Given the description of an element on the screen output the (x, y) to click on. 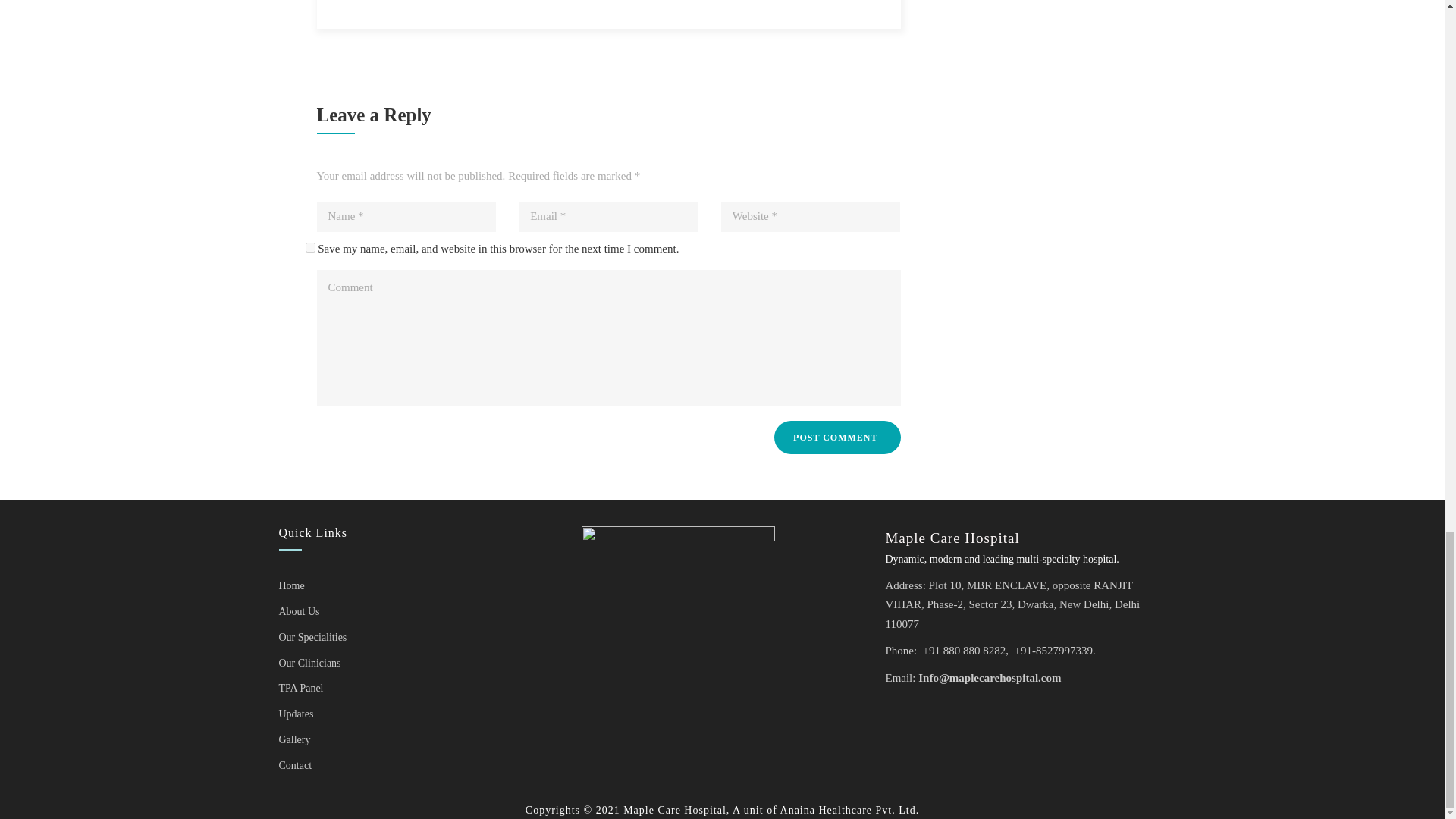
yes (309, 247)
Our Clinicians (309, 663)
Home (291, 585)
Our Specialities (313, 636)
Post Comment (836, 437)
About Us (299, 611)
Post Comment (836, 437)
